Given the description of an element on the screen output the (x, y) to click on. 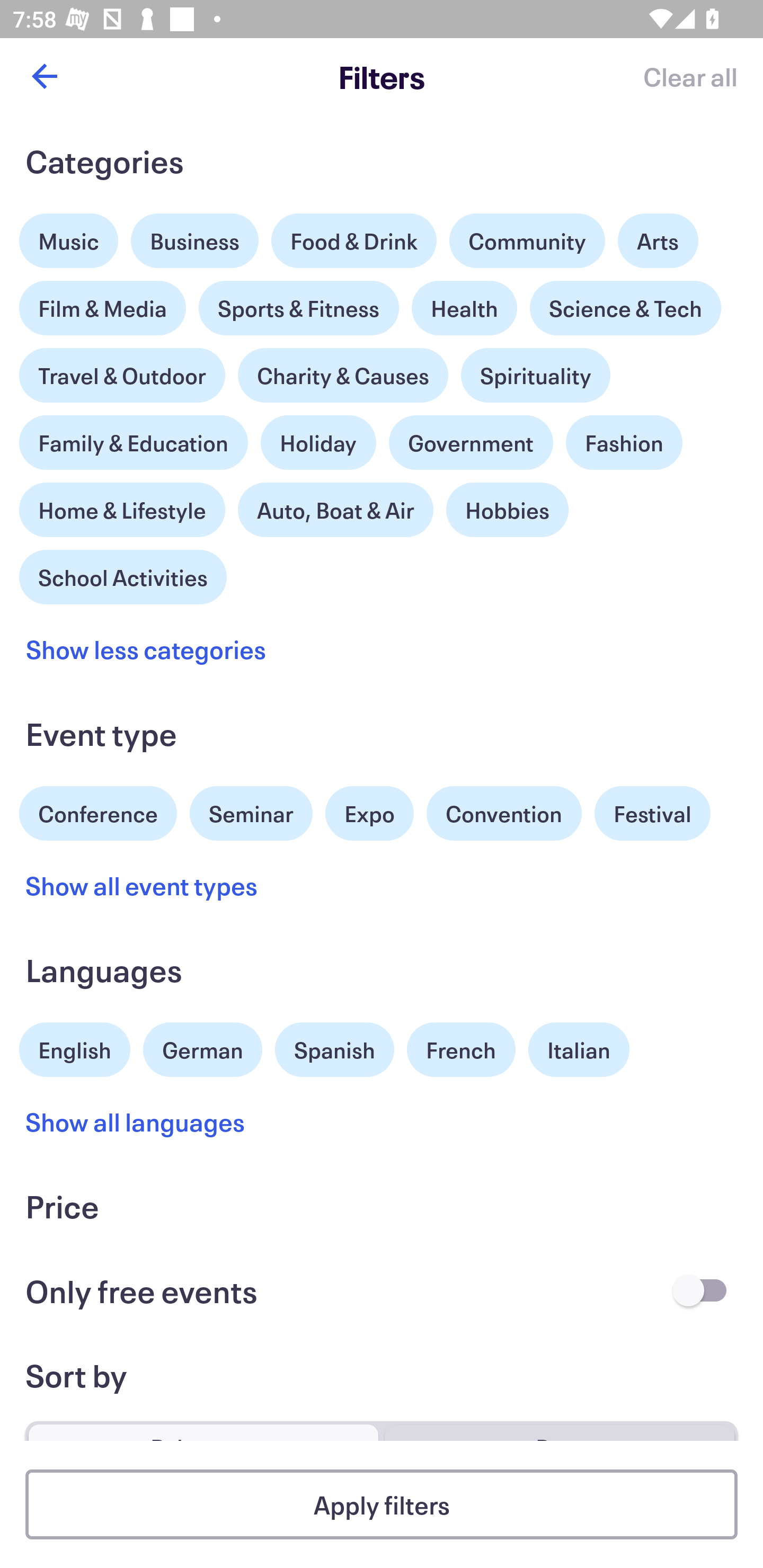
Back button (44, 75)
Clear all (690, 75)
Music (68, 235)
Business (194, 240)
Food & Drink (353, 240)
Community (527, 240)
Arts (658, 235)
Film & Media (102, 303)
Sports & Fitness (298, 307)
Health (464, 307)
Science & Tech (625, 307)
Travel & Outdoor (122, 370)
Charity & Causes (343, 375)
Spirituality (535, 375)
Family & Education (133, 442)
Holiday (318, 437)
Government (471, 442)
Fashion (624, 442)
Home & Lifestyle (122, 505)
Auto, Boat & Air (335, 509)
Hobbies (507, 509)
School Activities (122, 575)
Show less categories (145, 648)
Conference (98, 811)
Seminar (250, 813)
Expo (369, 813)
Convention (503, 813)
Festival (652, 813)
Show all event types (141, 884)
English (74, 1047)
German (202, 1047)
Spanish (334, 1049)
French (460, 1049)
Italian (578, 1049)
Show all languages (135, 1121)
Apply filters (381, 1504)
